Given the description of an element on the screen output the (x, y) to click on. 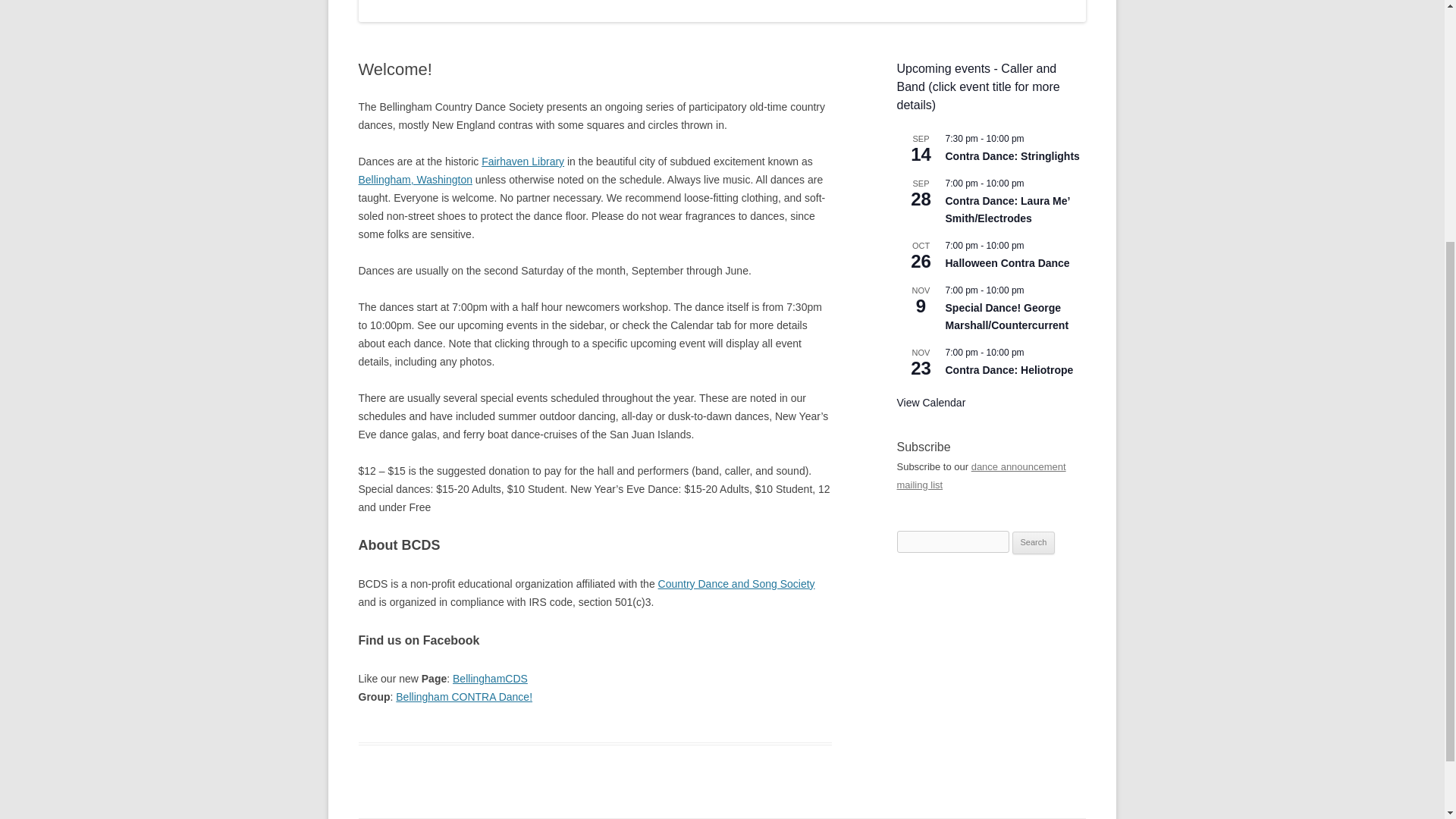
Contra Dance: Stringlights (1011, 155)
View Calendar (930, 402)
Search (1033, 542)
View more events. (930, 402)
Halloween Contra Dance (1006, 263)
dance announcement mailing list (980, 475)
Contra Dance: Stringlights (1011, 155)
Country Dance and Song Society (736, 583)
Halloween Contra Dance (1006, 263)
BellinghamCDS (489, 678)
